Given the description of an element on the screen output the (x, y) to click on. 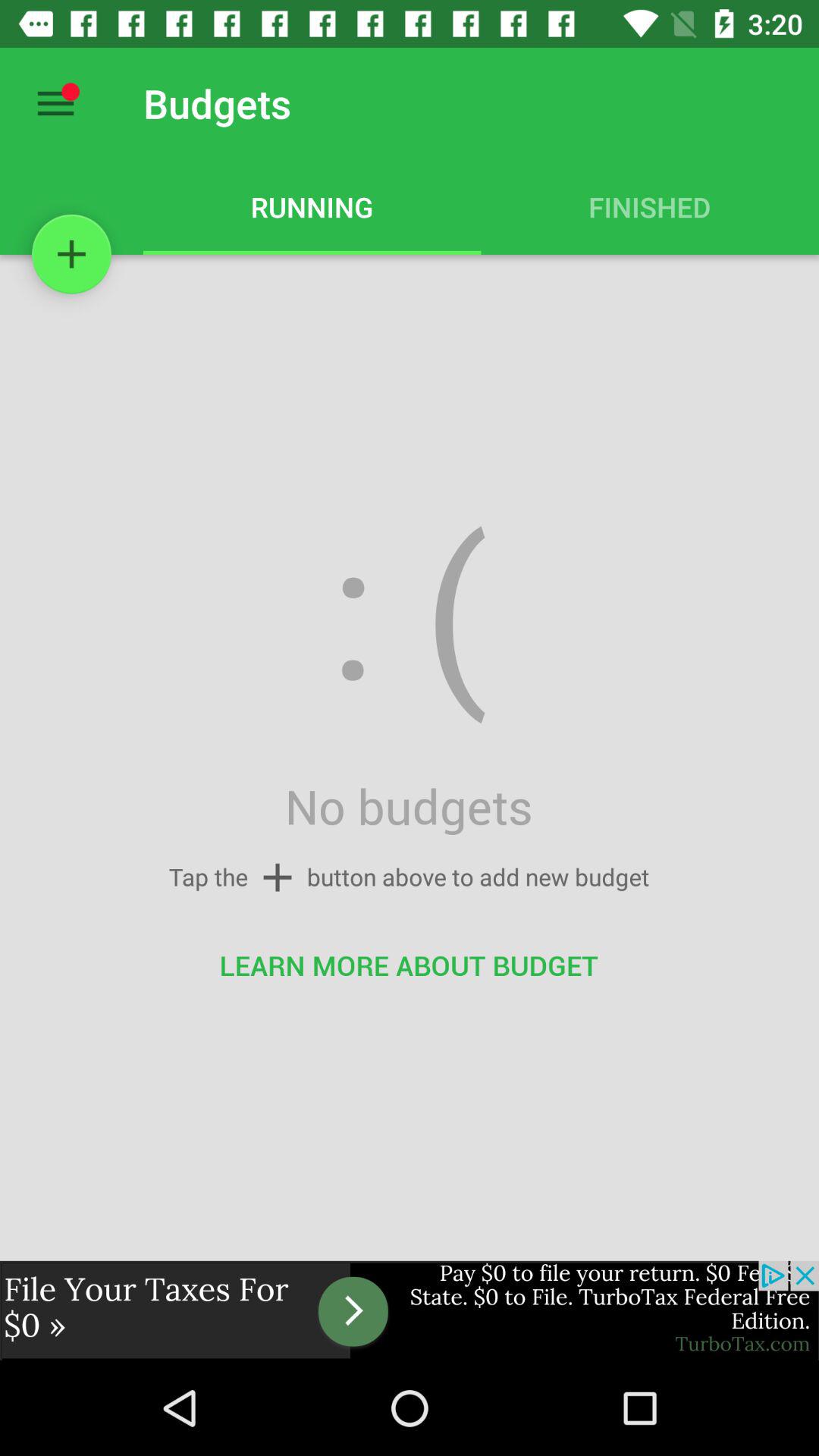
open app (409, 1310)
